Given the description of an element on the screen output the (x, y) to click on. 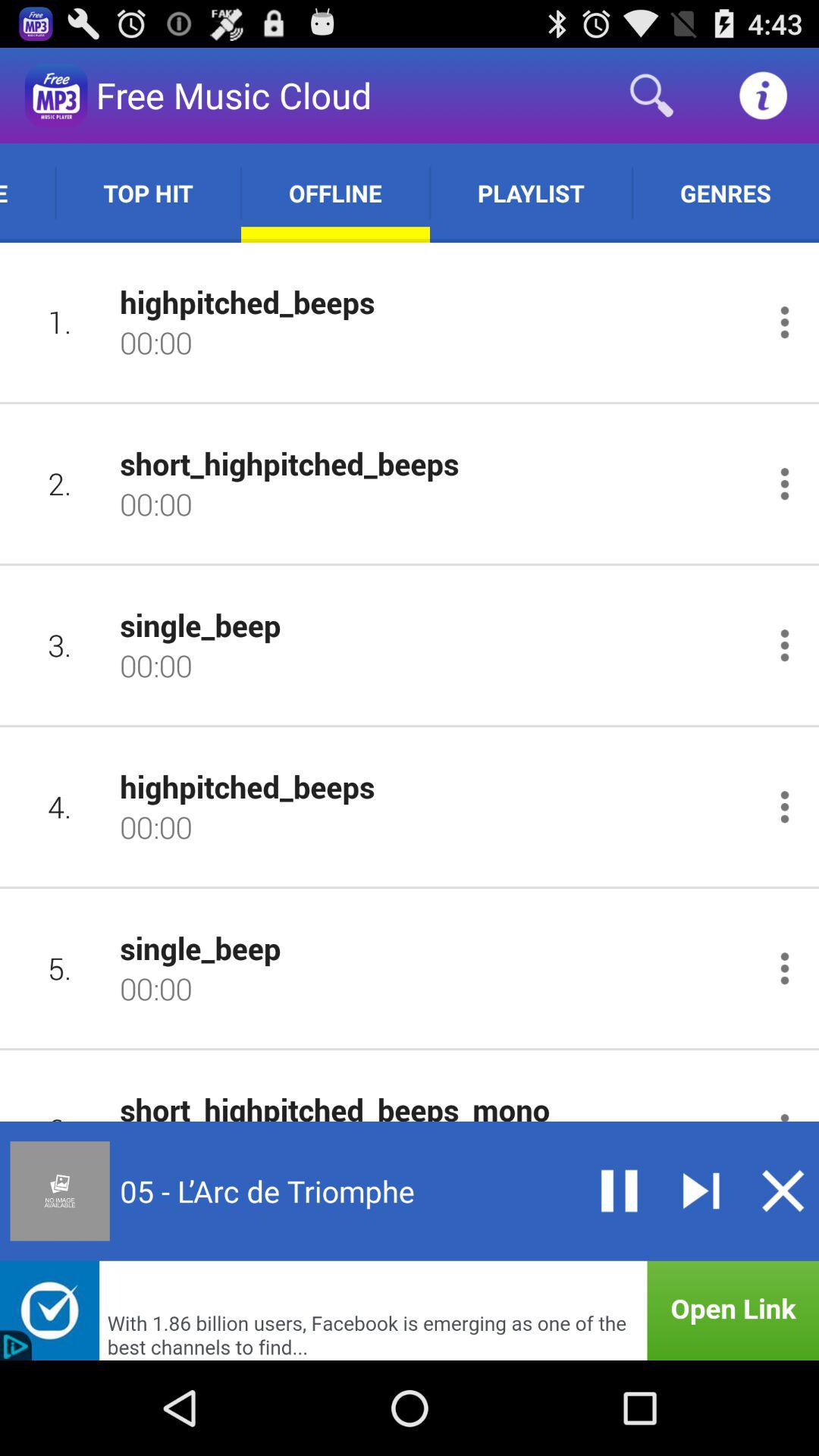
view options (784, 806)
